Given the description of an element on the screen output the (x, y) to click on. 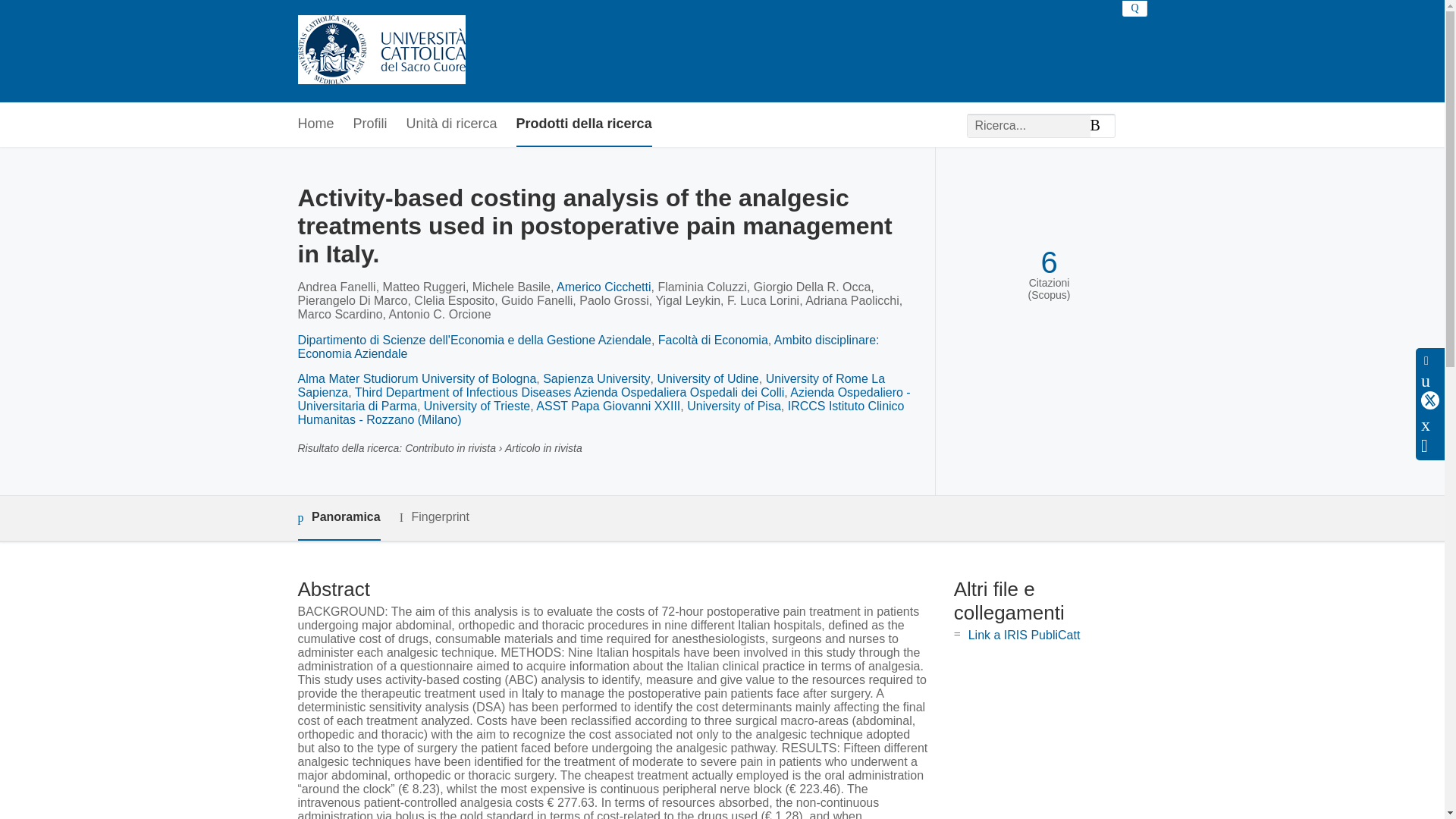
Prodotti della ricerca (584, 124)
Panoramica (338, 518)
Americo Cicchetti (603, 286)
University of Rome La Sapienza (591, 385)
PubliRES - Publications, Research, Expertise and Skills Home (380, 50)
Sapienza University (596, 378)
ASST Papa Giovanni XXIII (607, 405)
Link a IRIS PubliCatt (1024, 634)
